Given the description of an element on the screen output the (x, y) to click on. 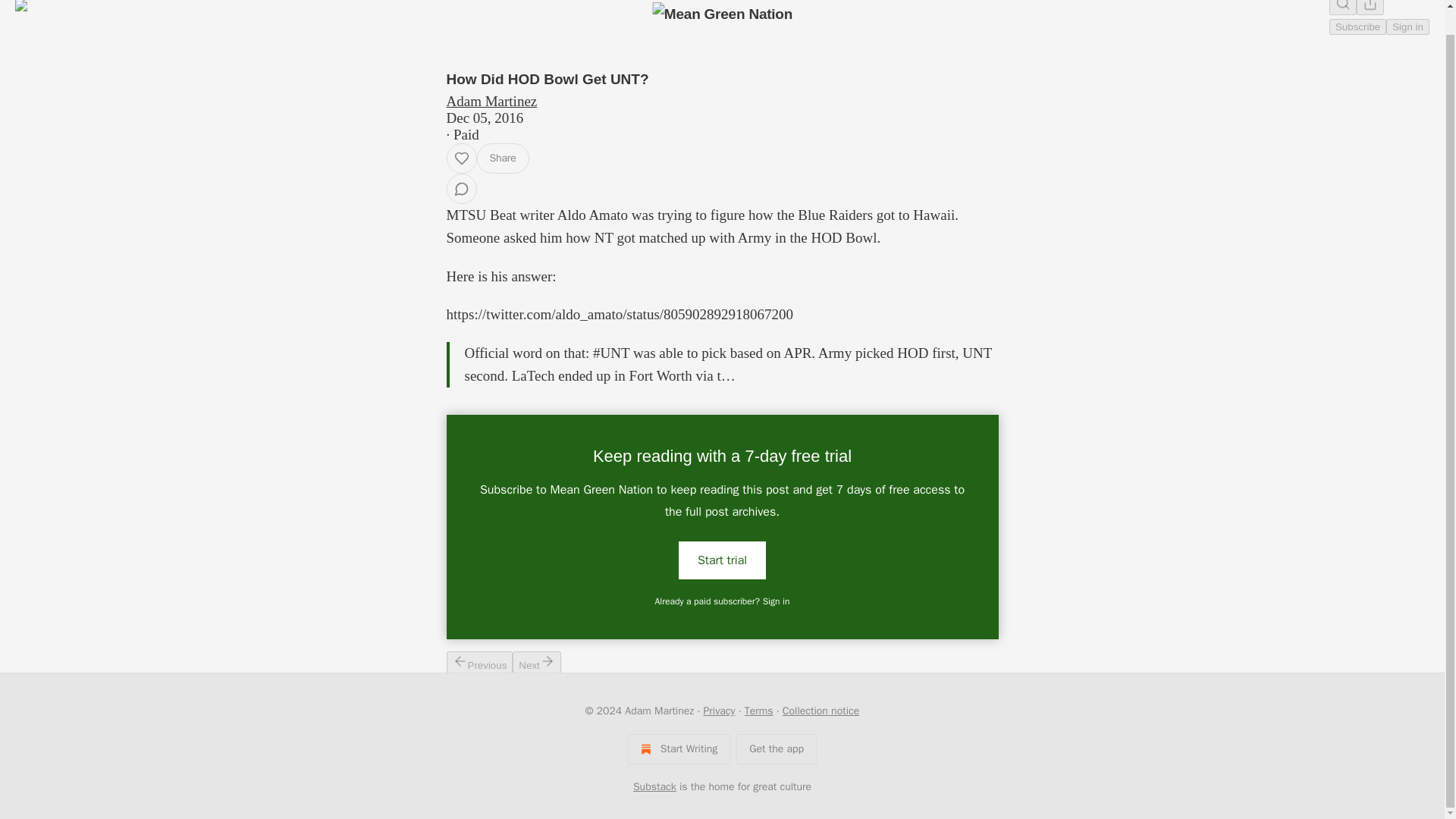
Share (502, 158)
Privacy (719, 710)
Next (536, 662)
Start trial (721, 559)
Collection notice (821, 710)
Adam Martinez (491, 100)
Already a paid subscriber? Sign in (722, 601)
Subscribe (1357, 26)
Terms (758, 710)
Start Writing (678, 748)
